Given the description of an element on the screen output the (x, y) to click on. 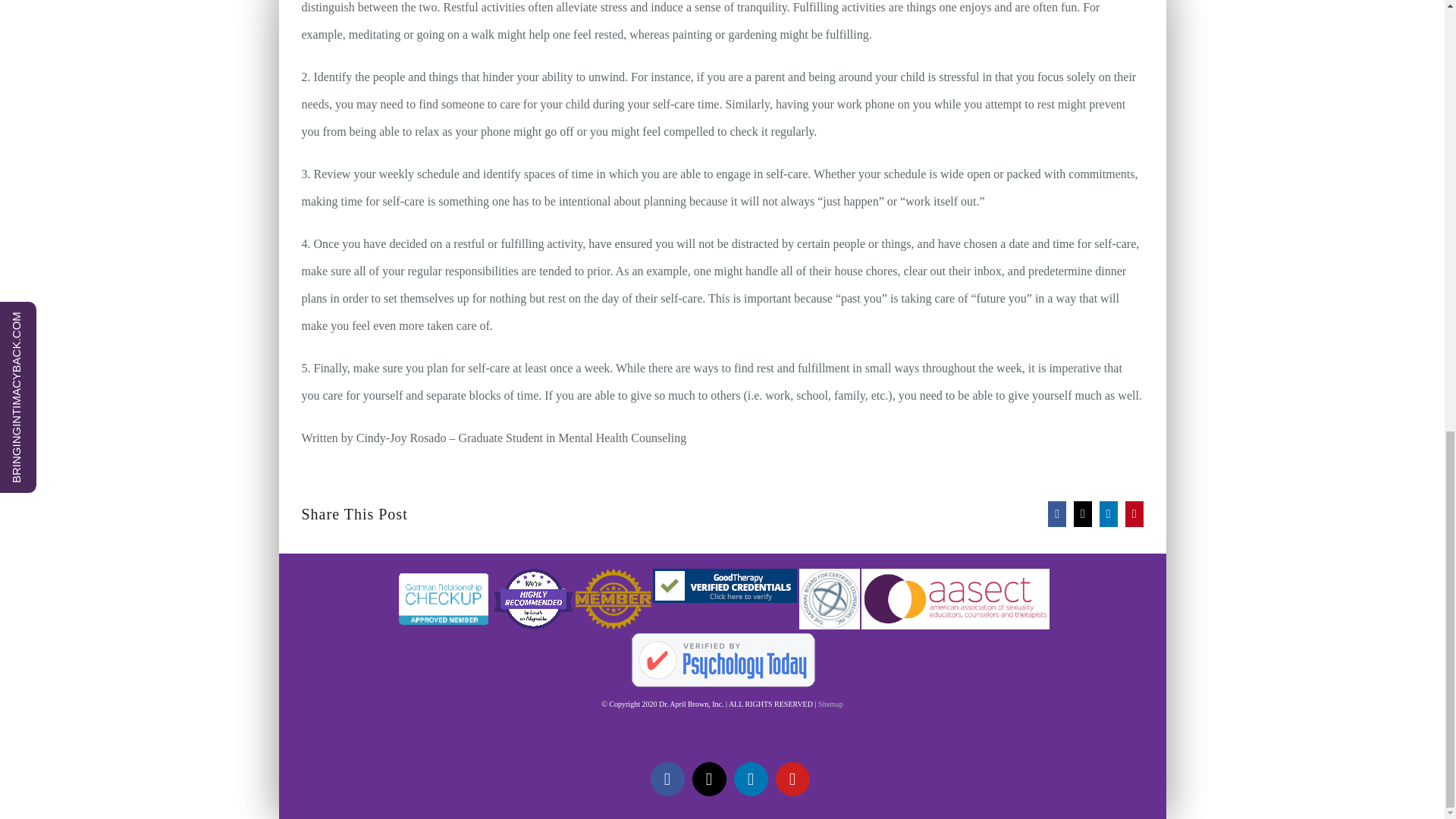
YouTube (791, 779)
Facebook (667, 779)
X (708, 779)
LinkedIn (750, 779)
